Given the description of an element on the screen output the (x, y) to click on. 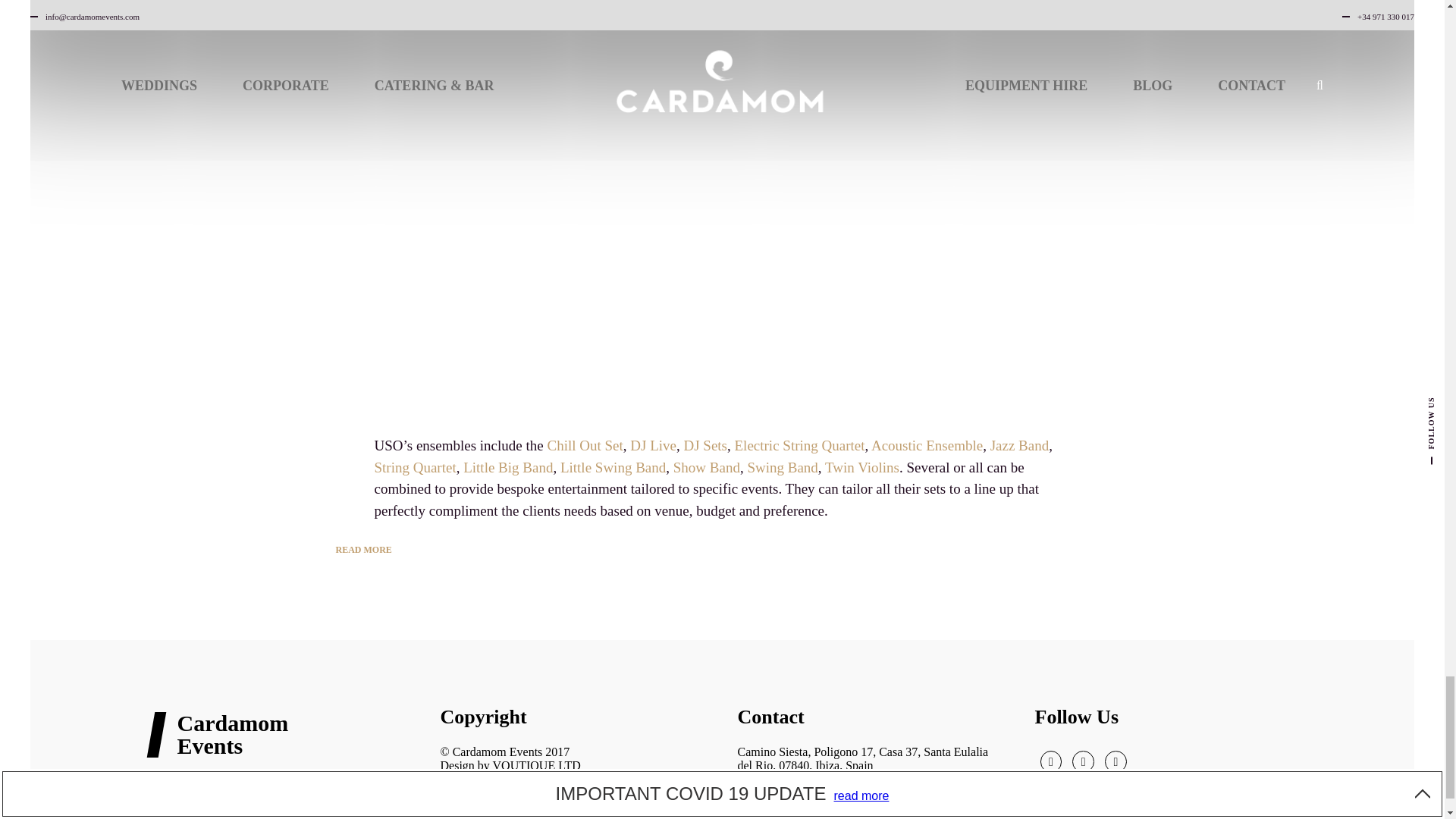
String Quartet (415, 467)
Twin Violins (862, 467)
Little Big Band (508, 467)
Electric String Quartet (798, 445)
Chill Out Set (585, 445)
Little Swing Band (612, 467)
READ MORE (362, 549)
Acoustic Ensemble (926, 445)
DJ Live (653, 445)
Swing Band (781, 467)
DJ Sets (704, 445)
Jazz Band (1019, 445)
Show Band (705, 467)
